Given the description of an element on the screen output the (x, y) to click on. 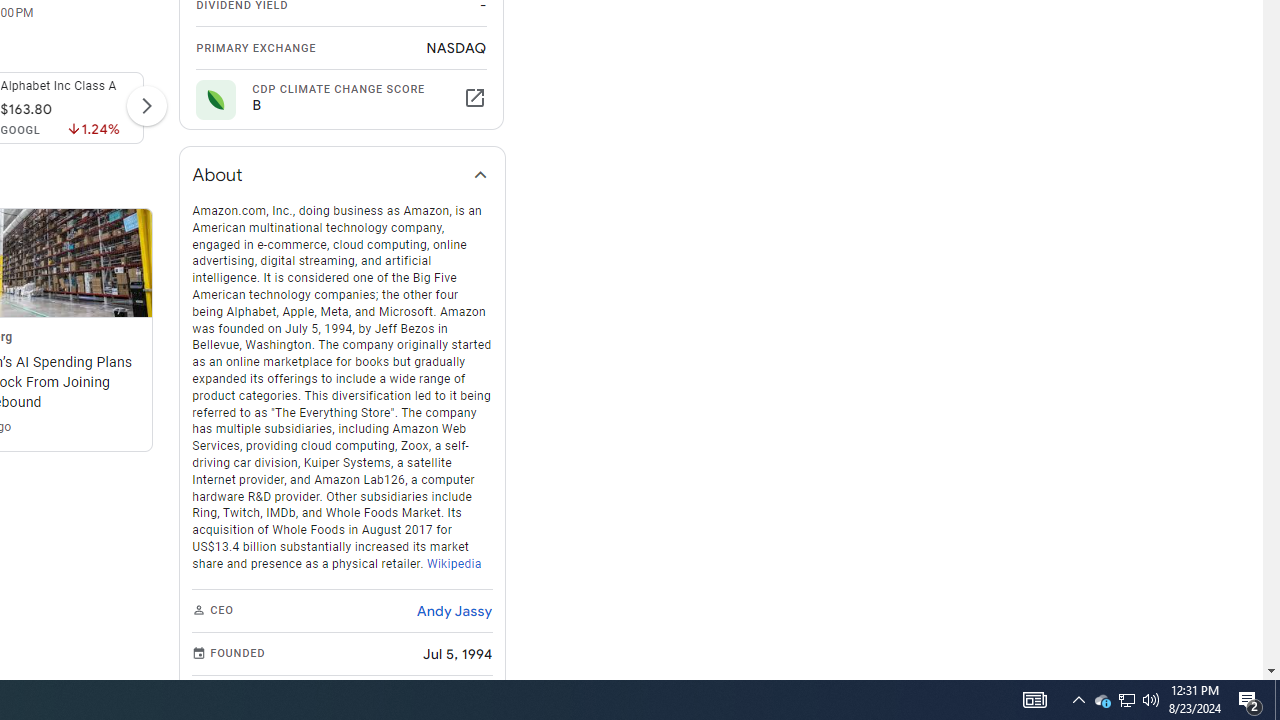
Andy Jassy (454, 609)
Wikipedia (454, 562)
